Given the description of an element on the screen output the (x, y) to click on. 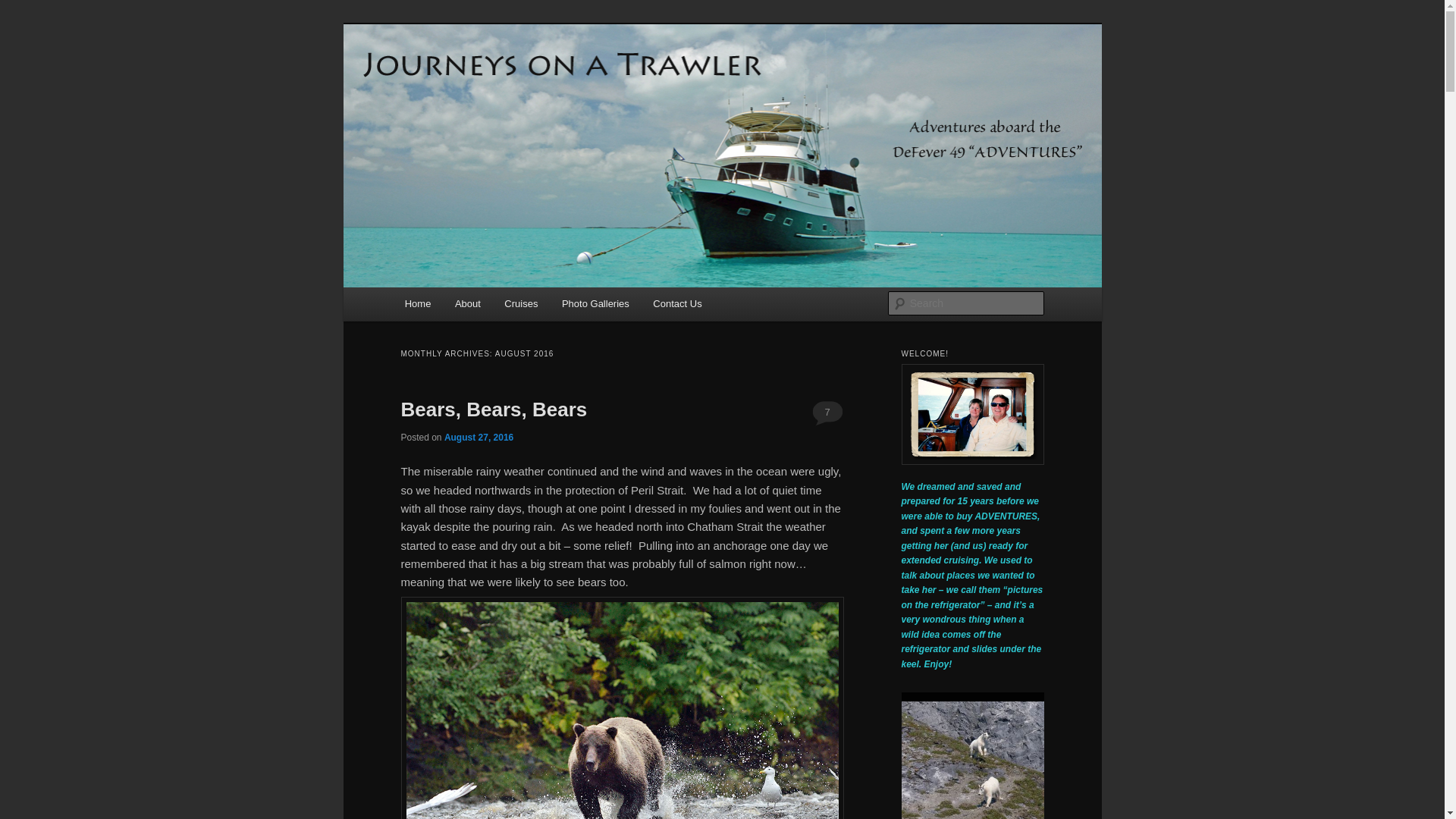
7 (827, 411)
Articles about the boat and various improvement projects (467, 303)
Journeys on a Trawler (520, 78)
Search (24, 8)
13:21 (478, 437)
Photo Galleries (595, 303)
Cruises (521, 303)
Home (417, 303)
Current Blog (417, 303)
